Given the description of an element on the screen output the (x, y) to click on. 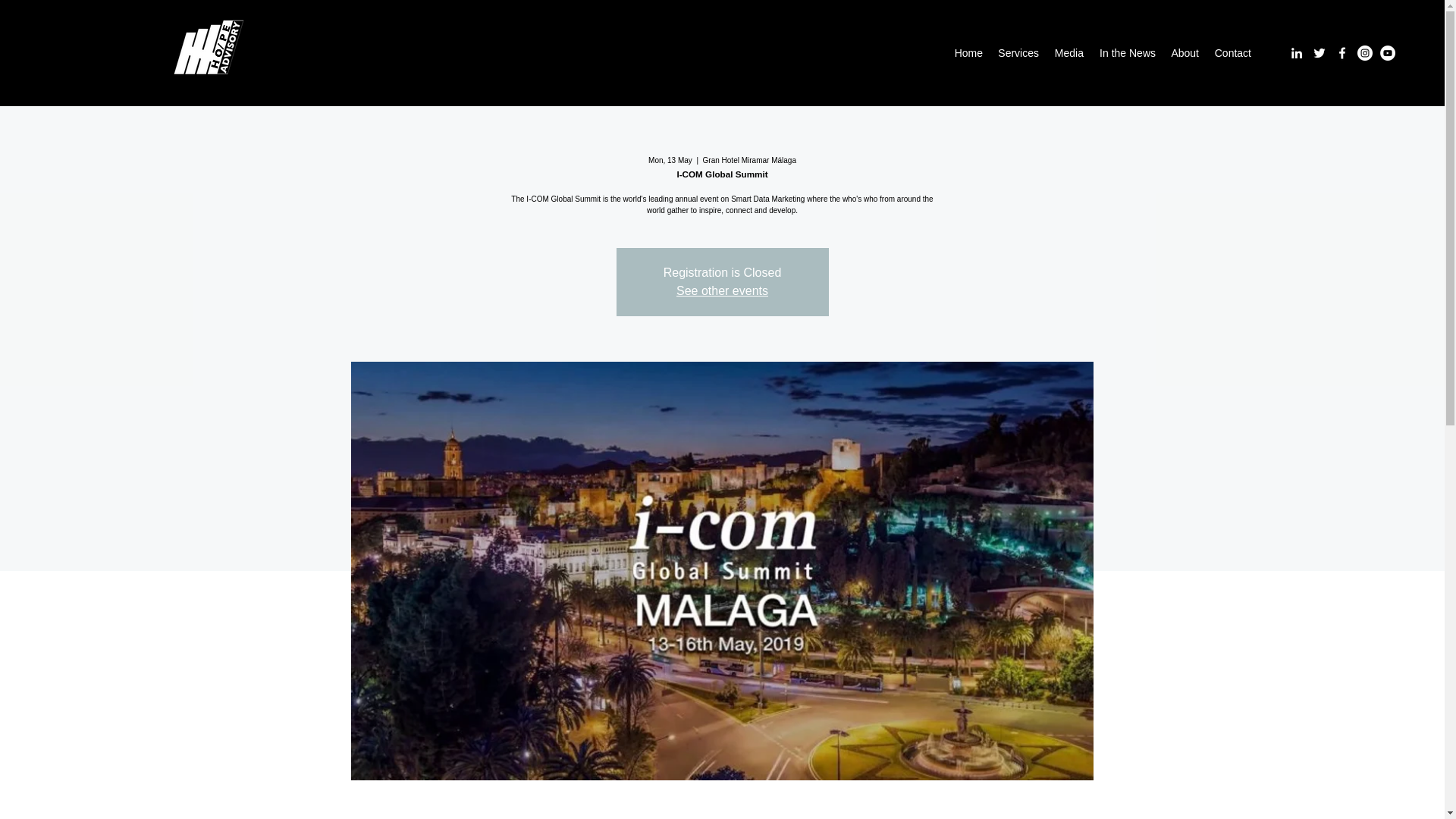
Services (1018, 52)
See other events (722, 290)
Media (1068, 52)
About (1185, 52)
Contact (1233, 52)
Home (968, 52)
In the News (1126, 52)
